Given the description of an element on the screen output the (x, y) to click on. 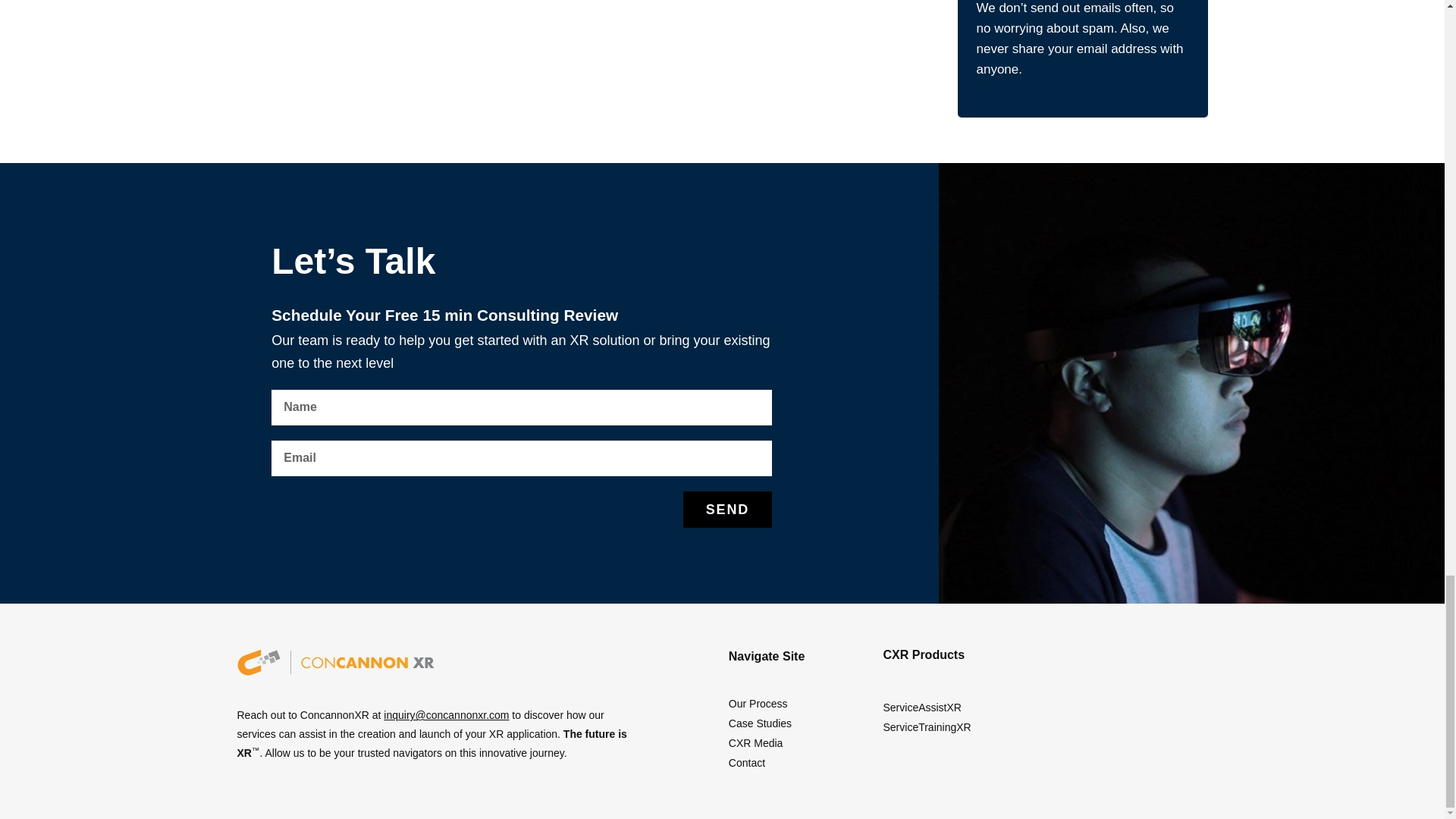
SEND (727, 509)
CXR Products (922, 654)
ServiceAssistXR (1046, 708)
Case Studies (802, 723)
Contact (802, 763)
ServiceTrainingXR (1046, 727)
CXR Media (802, 743)
Our Process (802, 704)
